Given the description of an element on the screen output the (x, y) to click on. 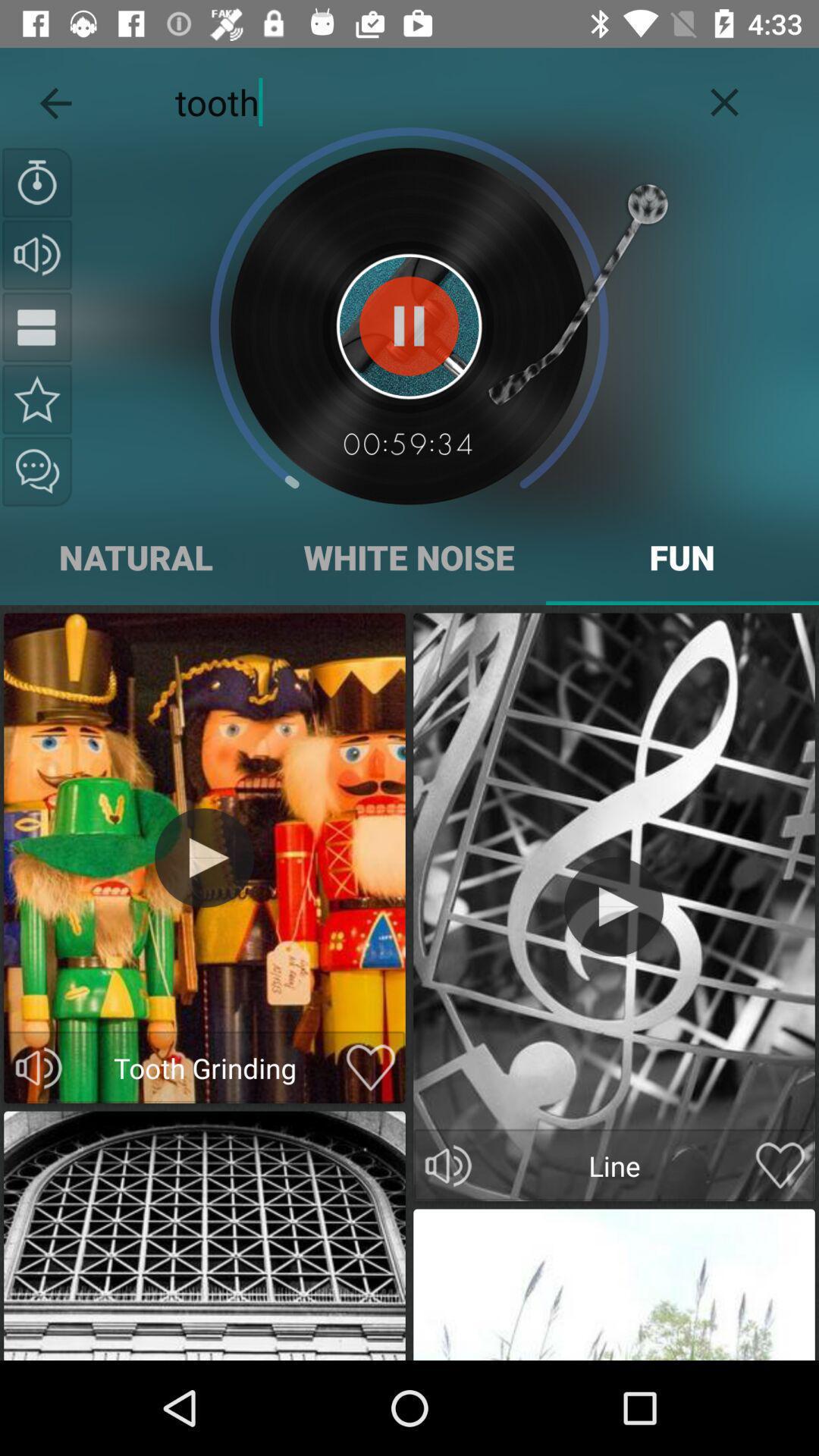
volumen option (37, 255)
